Given the description of an element on the screen output the (x, y) to click on. 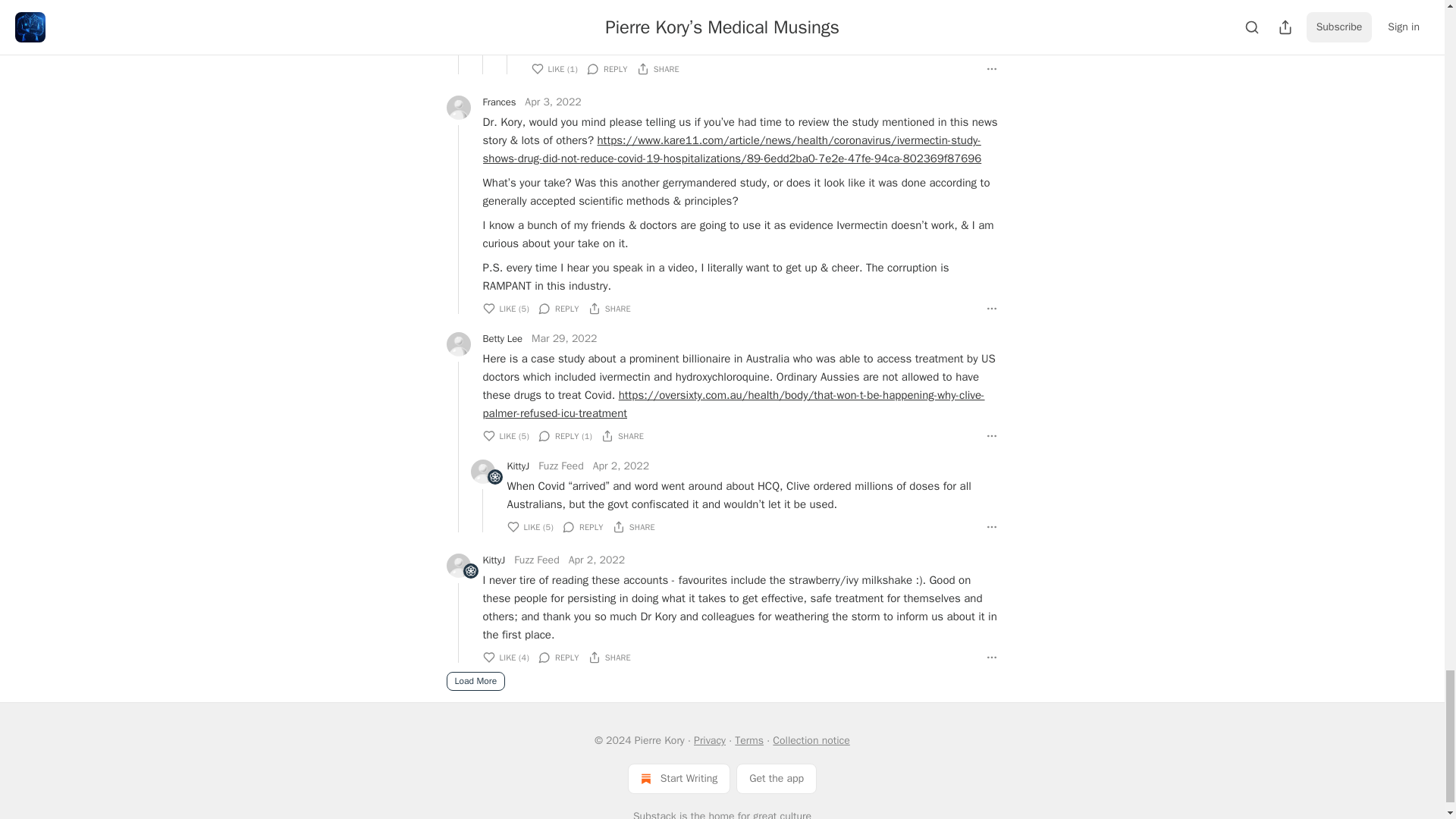
Founding Member (470, 570)
Founding Member (494, 476)
Founding Member (494, 476)
Founding Member (470, 570)
